Given the description of an element on the screen output the (x, y) to click on. 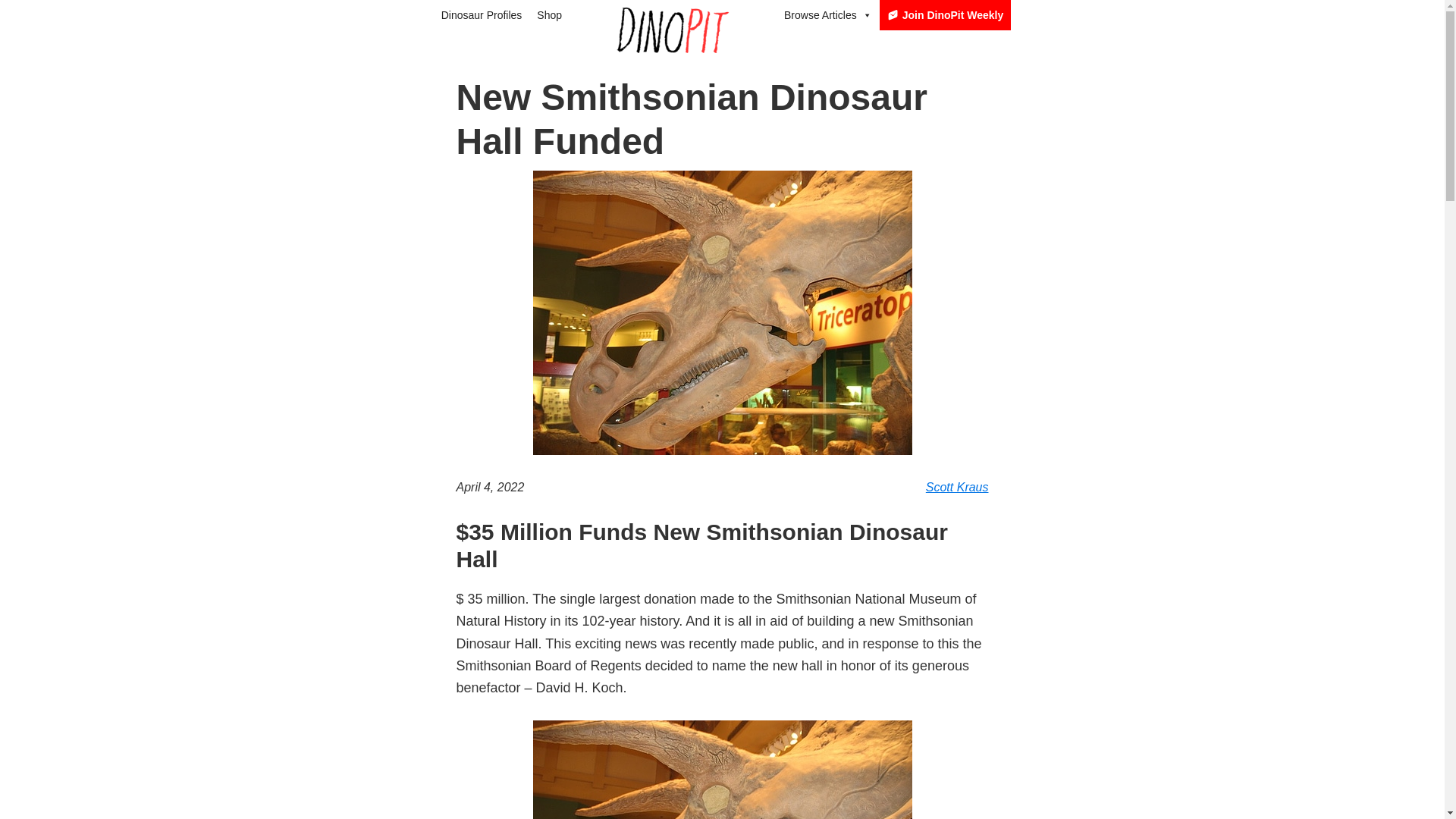
Join DinoPit Weekly (945, 15)
Browse Articles (827, 15)
Shop (549, 15)
Scott Kraus (957, 486)
Dinosaur Profiles (481, 15)
Smithsonian Dinosaur Hall (721, 769)
